Given the description of an element on the screen output the (x, y) to click on. 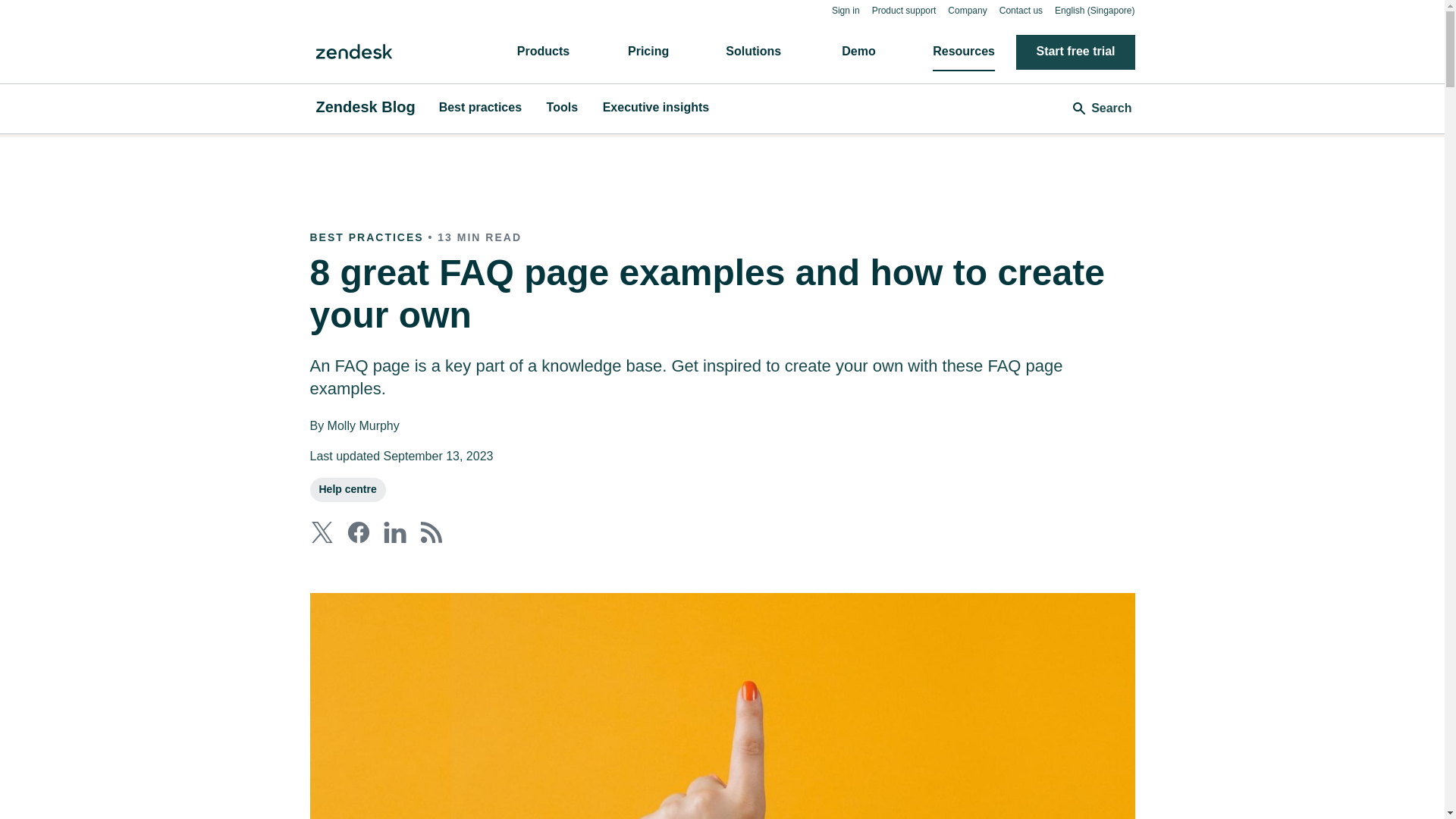
Contact us (1020, 9)
Company (967, 9)
Sign in (845, 9)
Product support (904, 9)
